Given the description of an element on the screen output the (x, y) to click on. 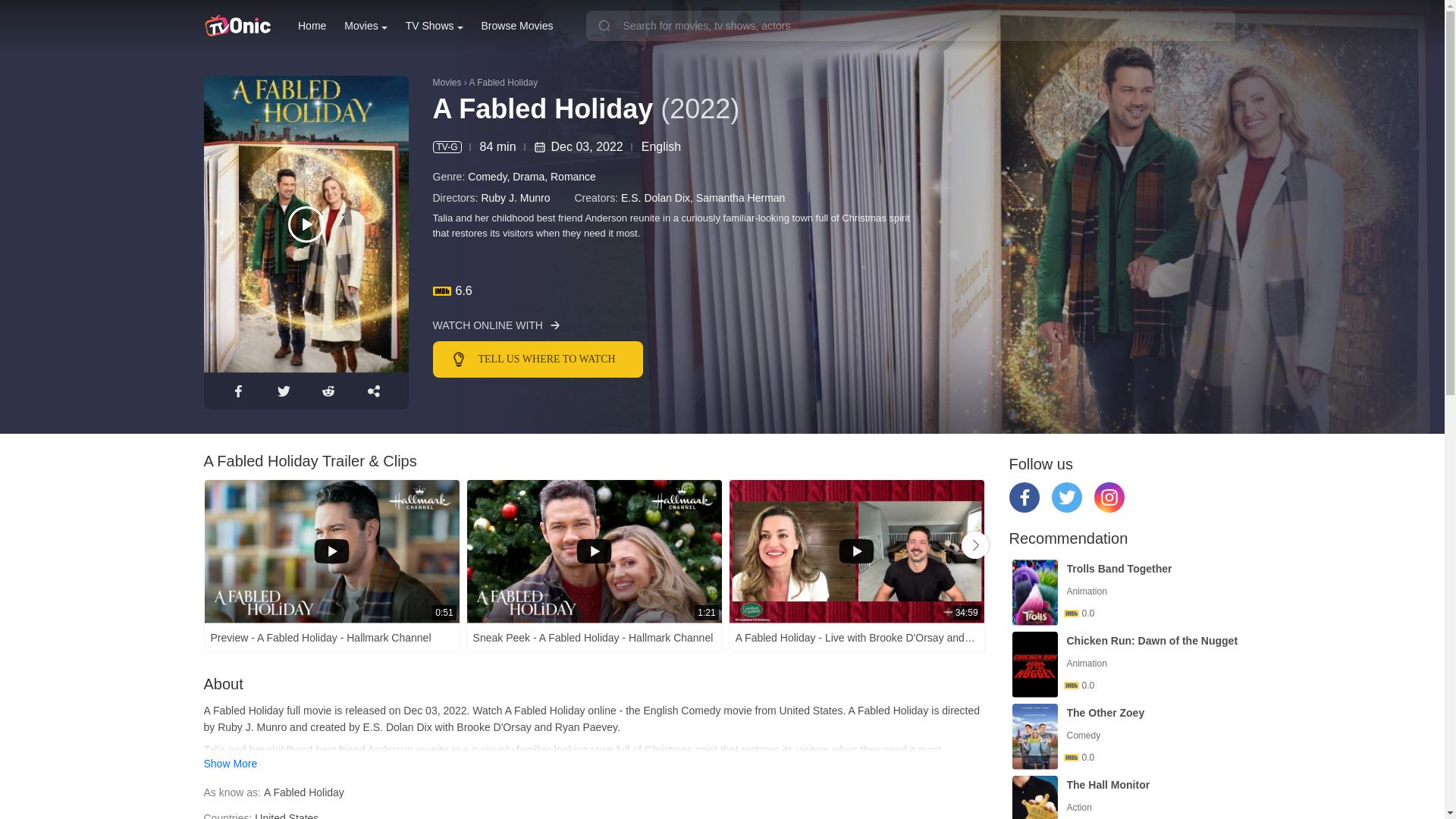
TV Shows (434, 25)
TVOnic (236, 25)
Home (312, 25)
Movies (365, 25)
TELL US WHERE TO WATCH (647, 359)
6.6 (836, 290)
Movies (365, 25)
